Given the description of an element on the screen output the (x, y) to click on. 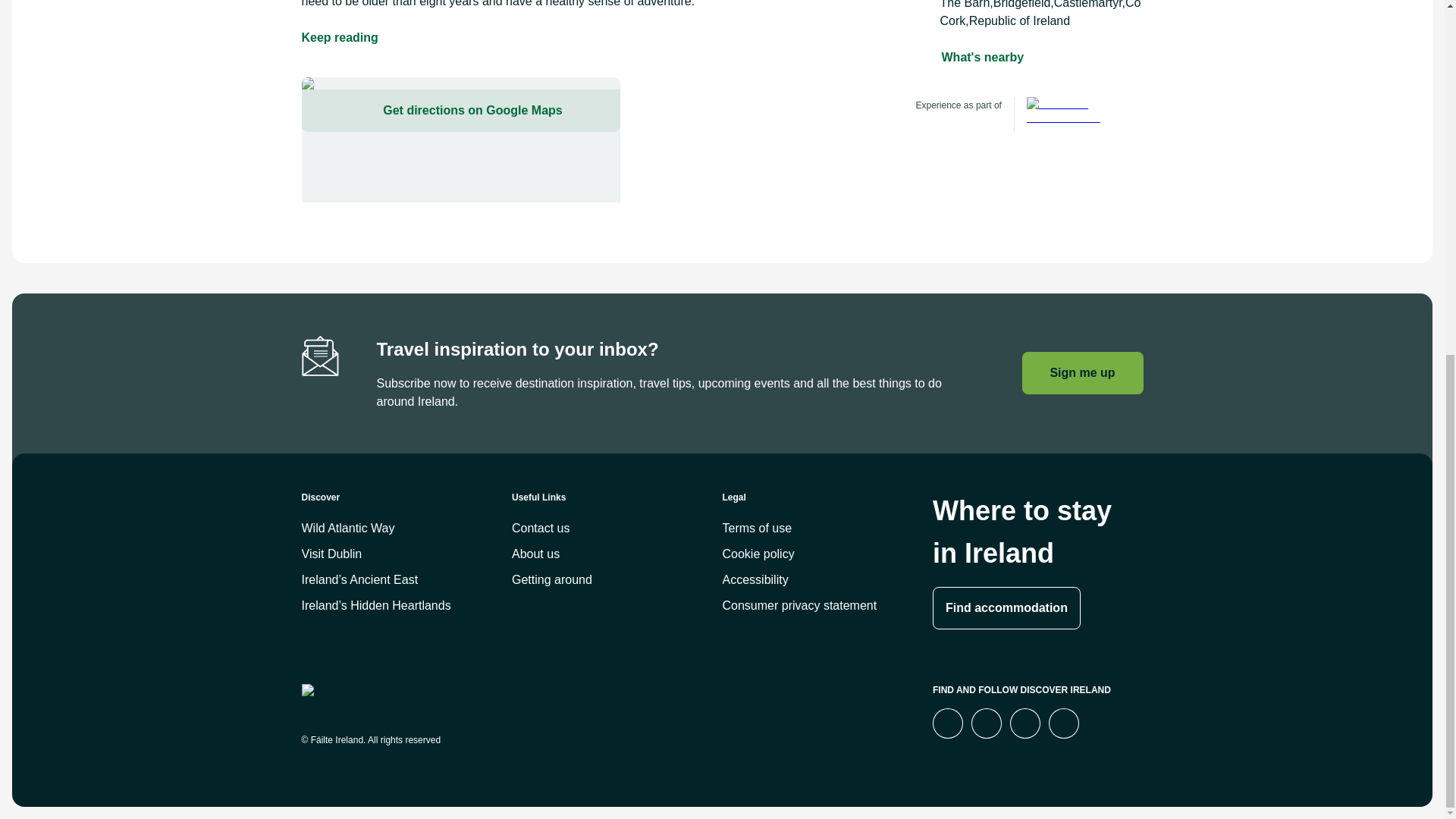
Sign me up (1082, 372)
Ireland's Ancient East (1070, 114)
Discover (406, 503)
Keep reading (339, 37)
Get directions on Google Maps (460, 110)
Get directions on Google Maps (460, 139)
What's nearby (983, 57)
